Given the description of an element on the screen output the (x, y) to click on. 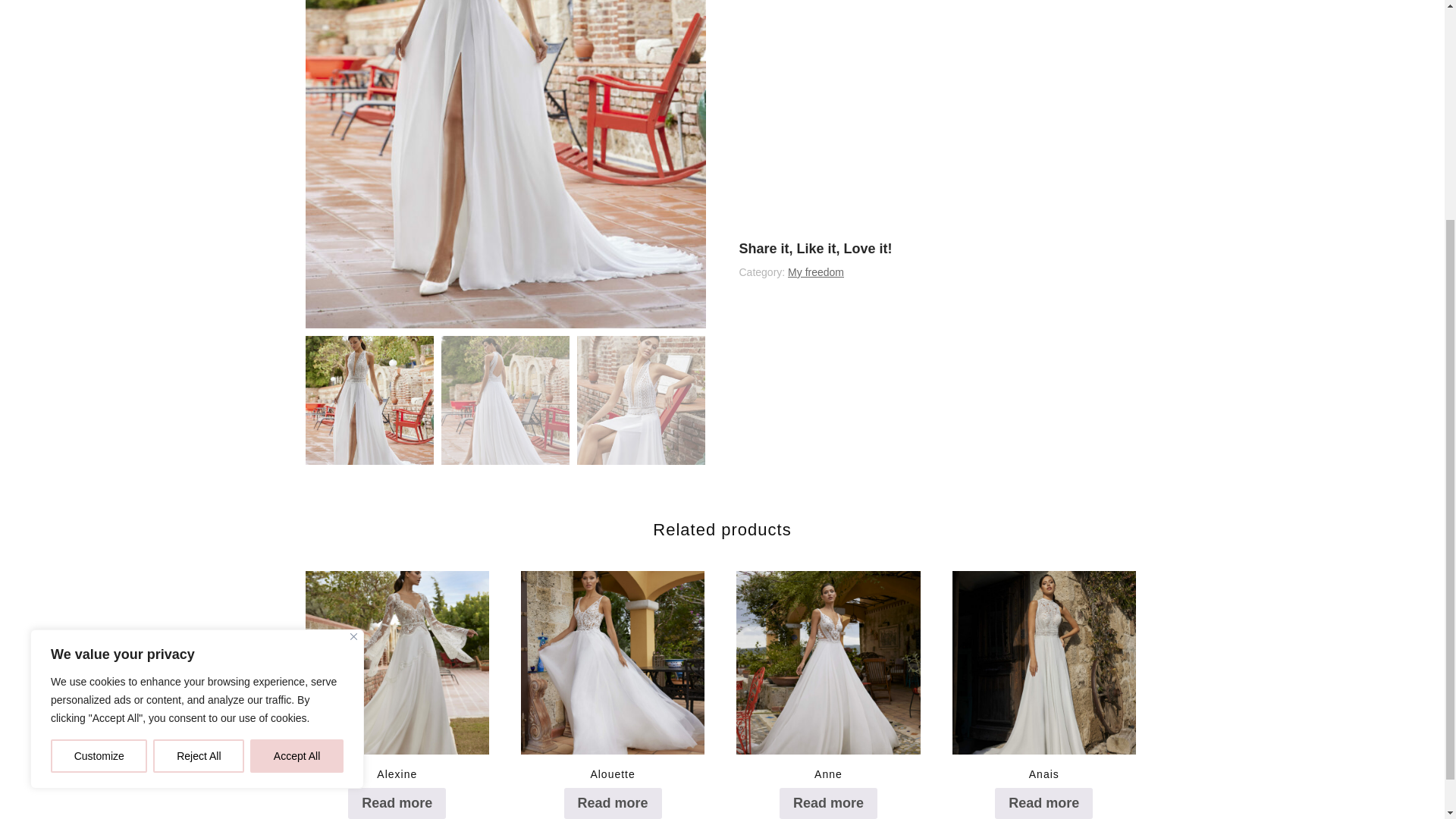
Customize (98, 450)
Alexine (396, 690)
Read more (827, 802)
Reject All (198, 450)
Alouette (612, 690)
Accept All (296, 450)
Read more (1043, 802)
Read more (396, 802)
Anais (1044, 690)
My freedom (815, 272)
YouTube video player (938, 114)
Read more (613, 802)
Anne (828, 690)
